Given the description of an element on the screen output the (x, y) to click on. 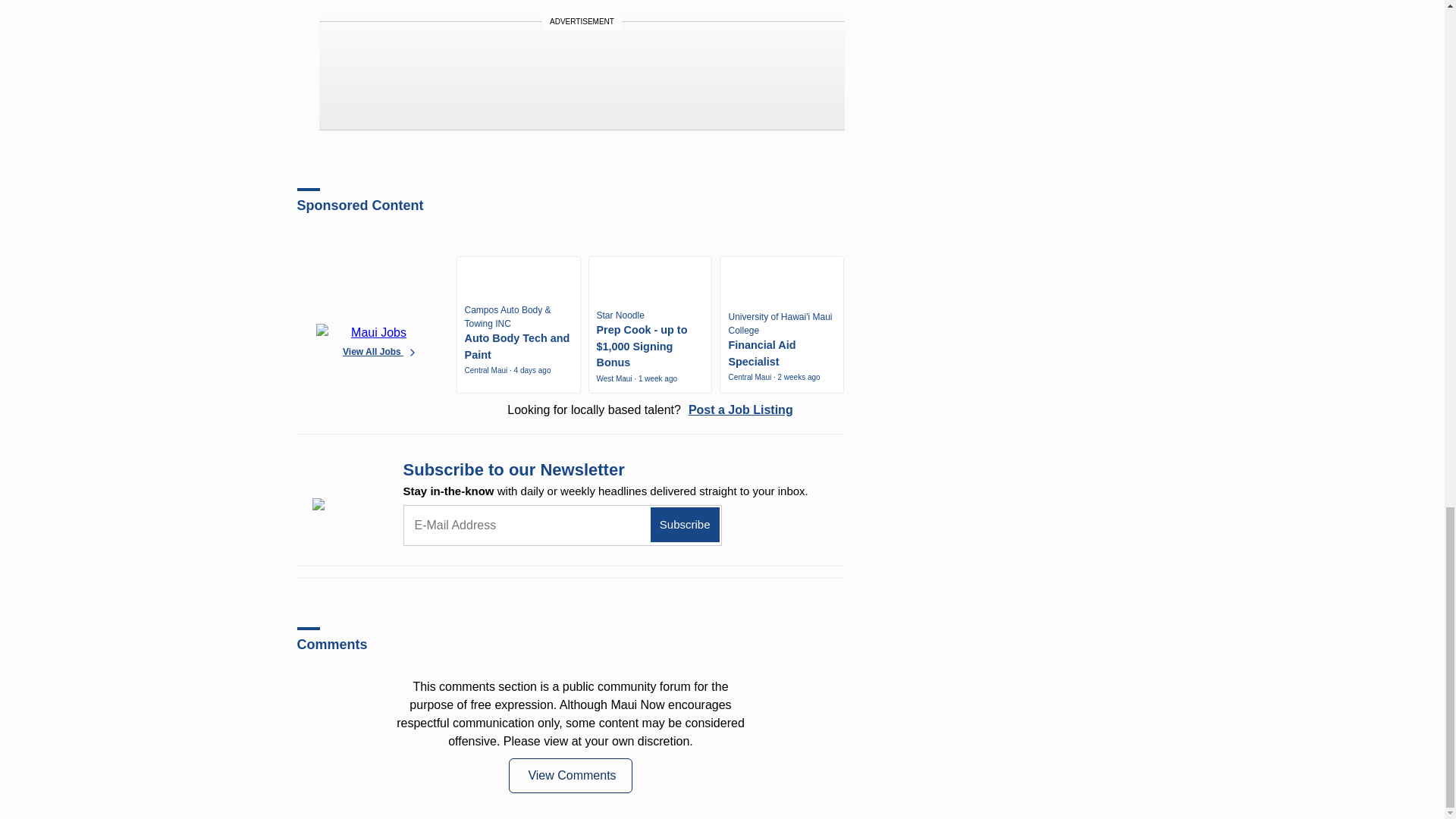
Subscribe (684, 524)
Chevron Forward (412, 351)
